Given the description of an element on the screen output the (x, y) to click on. 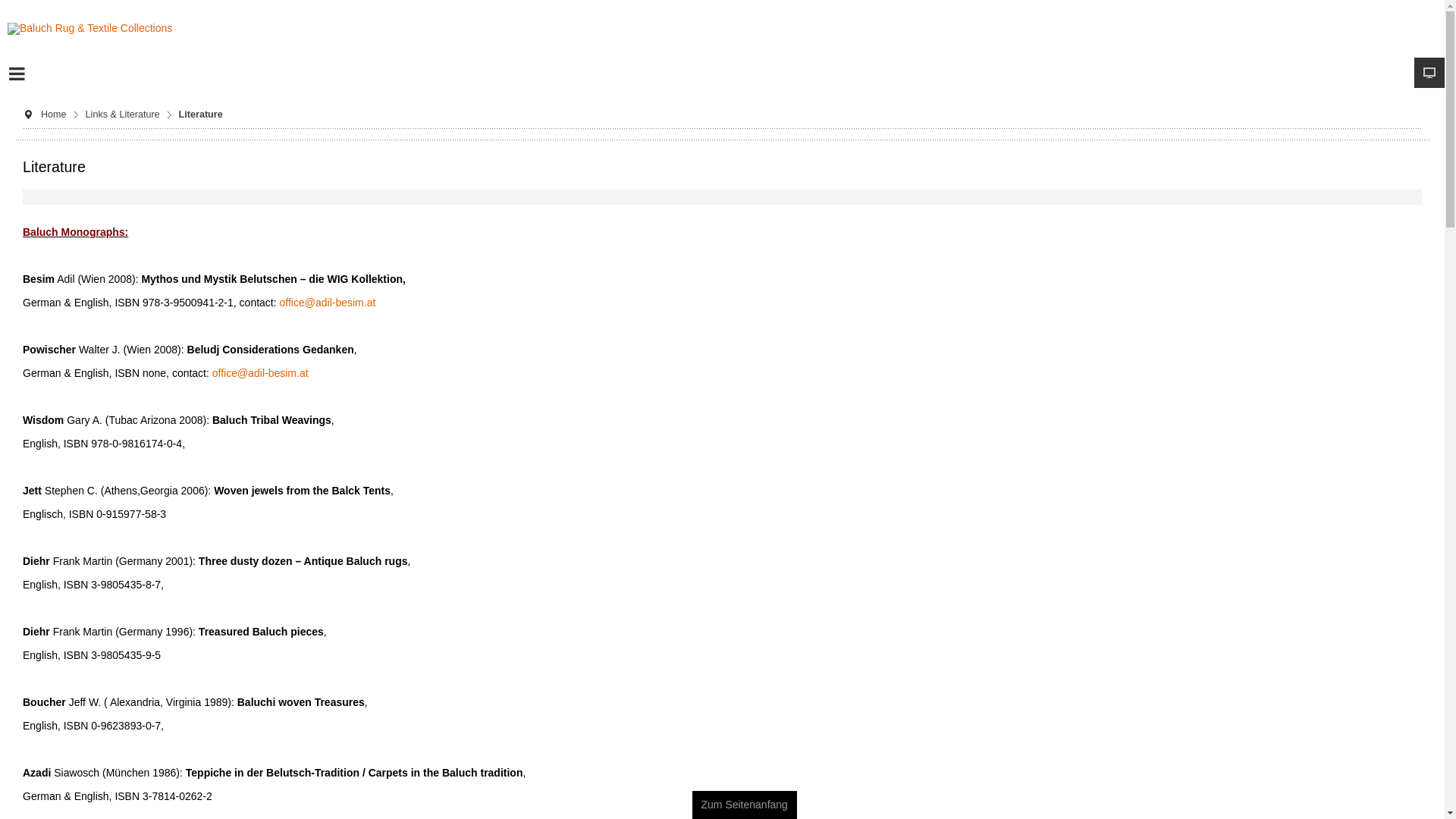
office@adil-besim.at Element type: text (260, 373)
office@adil-besim.at Element type: text (327, 302)
Home Element type: text (59, 114)
Baluch Rug & Textile Collections Element type: hover (89, 28)
Links & Literature Element type: text (128, 114)
Aktuelle Seite:  Element type: hover (27, 114)
